Given the description of an element on the screen output the (x, y) to click on. 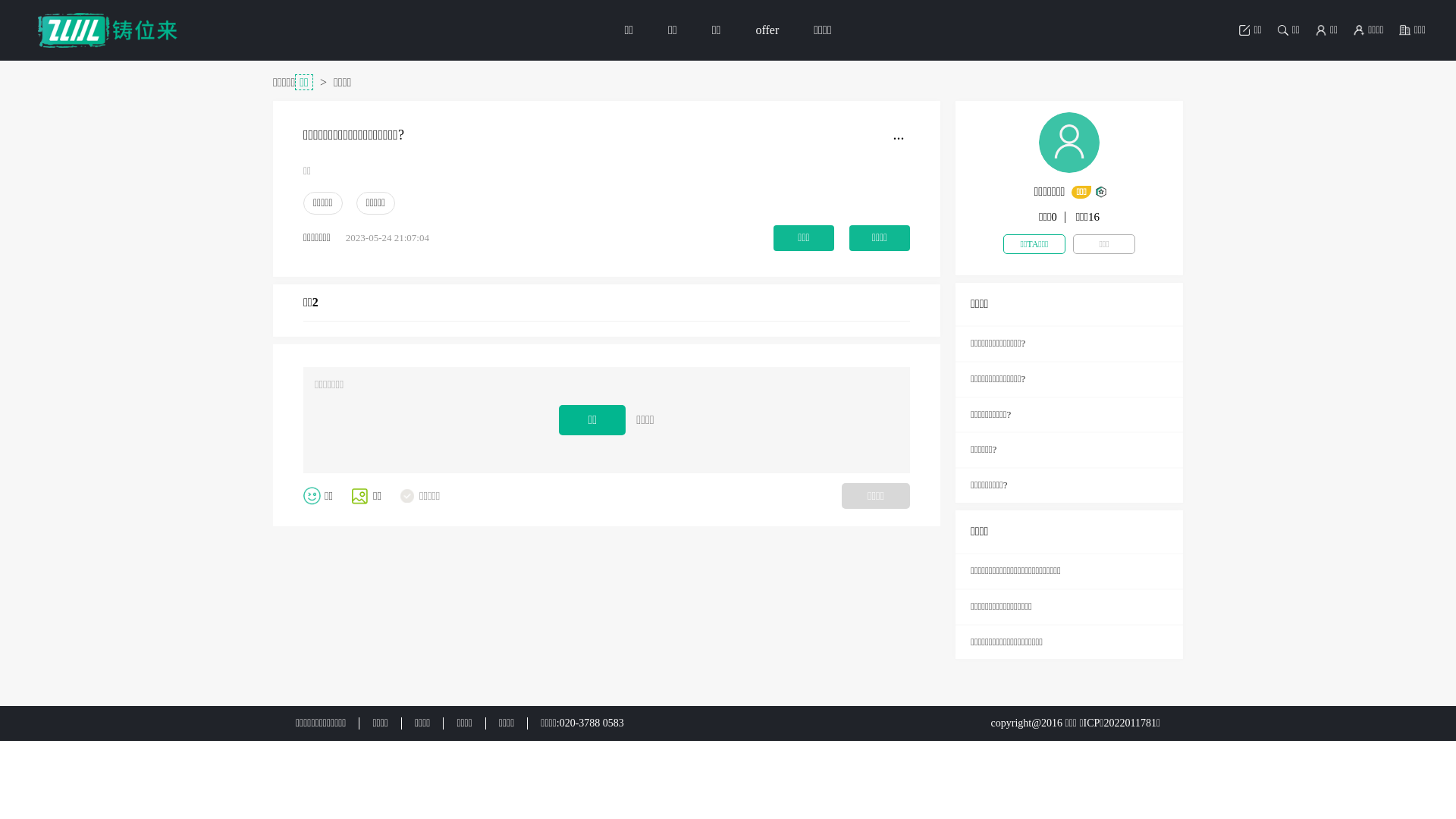
offer Element type: text (766, 29)
